Given the description of an element on the screen output the (x, y) to click on. 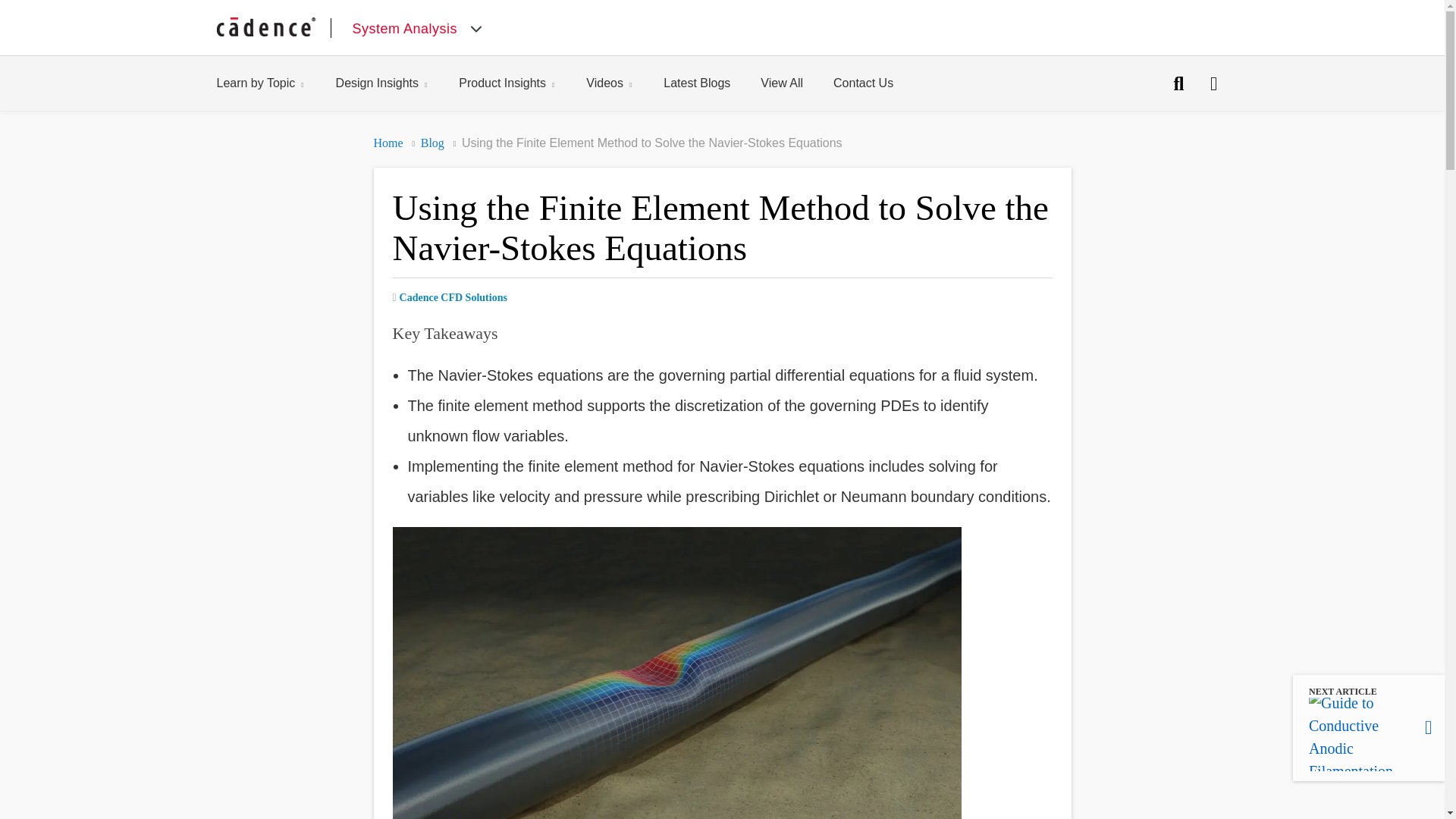
Author (449, 297)
Open Search Box (398, 83)
Contact Us (1178, 82)
Blog (522, 83)
Home (276, 83)
Share this Post (877, 83)
Cadence CFD Solutions (432, 142)
System Analysis (387, 142)
Open search box (1213, 82)
View All (624, 83)
Share this Post (452, 297)
